Given the description of an element on the screen output the (x, y) to click on. 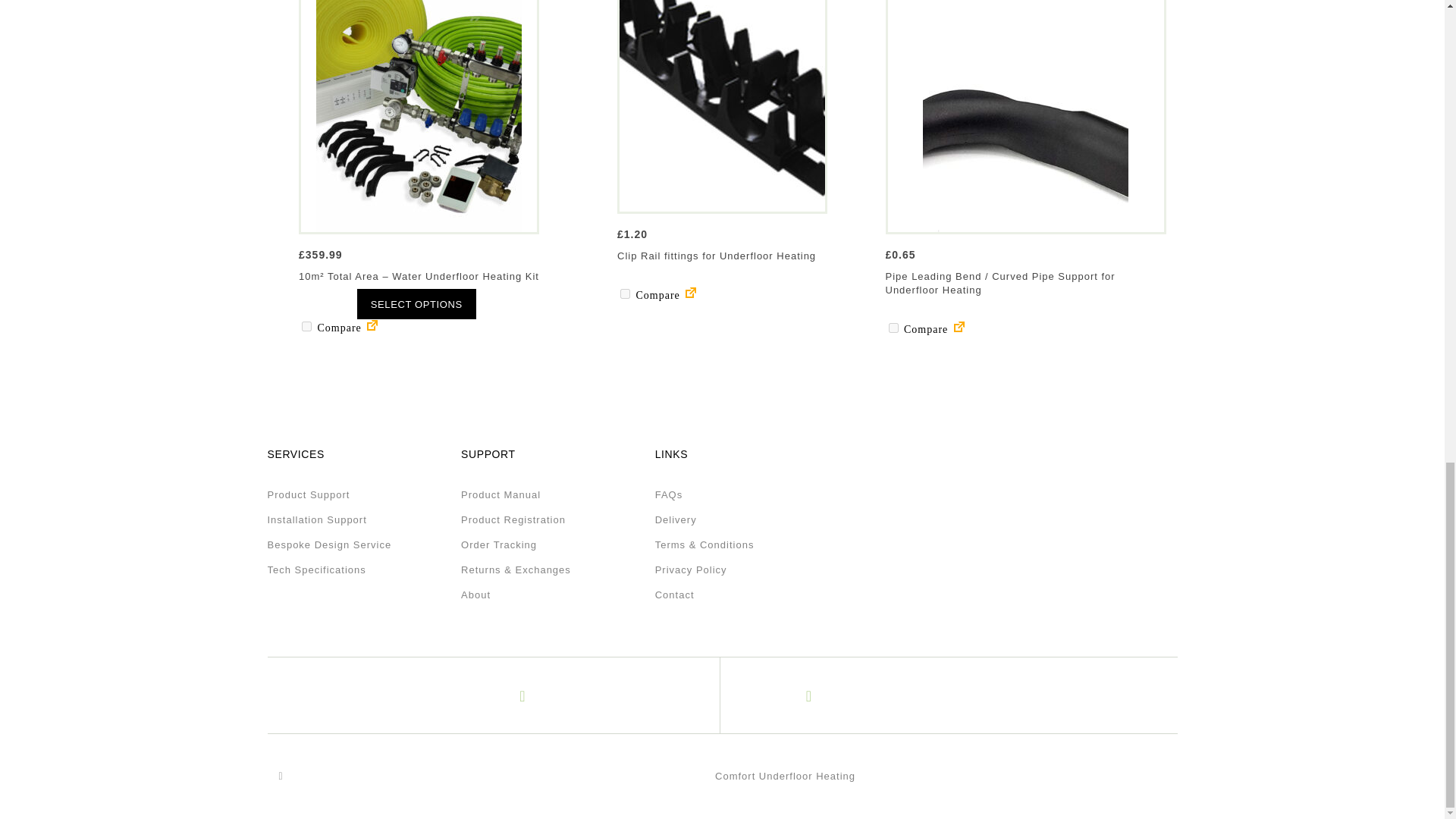
on (306, 326)
Compare Page (690, 295)
Compare Page (372, 327)
on (625, 293)
on (893, 327)
